Given the description of an element on the screen output the (x, y) to click on. 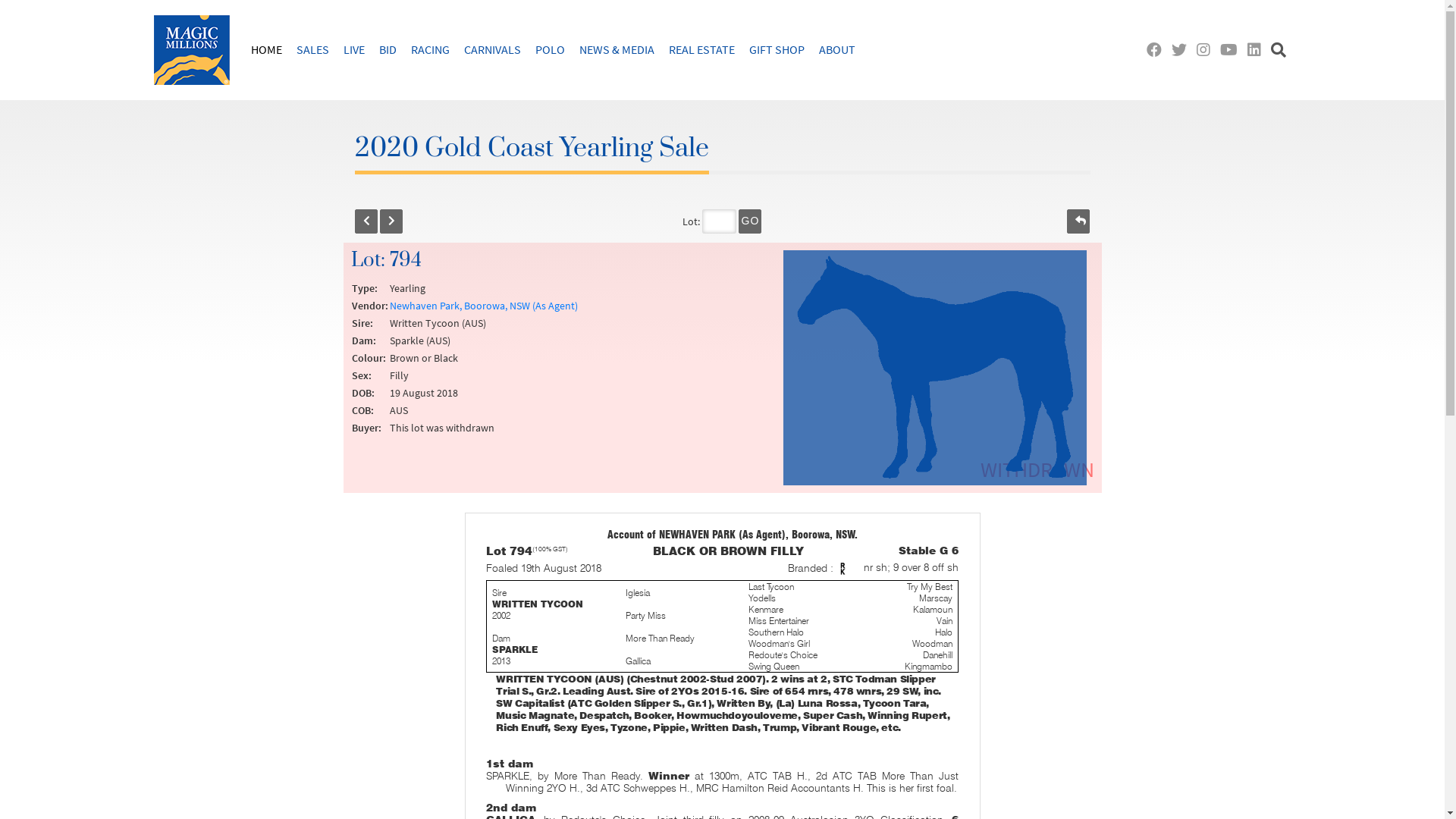
GIFT SHOP Element type: text (776, 49)
REAL ESTATE Element type: text (701, 49)
  Element type: text (390, 221)
Instagram Element type: hover (1206, 49)
  Element type: text (1256, 49)
BID Element type: text (387, 49)
Search Element type: hover (1280, 49)
  Element type: text (1280, 49)
LinkedIn Element type: hover (1256, 49)
ABOUT Element type: text (836, 49)
RACING Element type: text (429, 49)
Newhaven Park, Boorowa, NSW (As Agent) Element type: text (483, 305)
SALES Element type: text (311, 49)
Forward Element type: hover (390, 221)
Facebook Element type: hover (1157, 49)
Back Element type: hover (365, 221)
  Element type: text (1231, 49)
  Element type: text (365, 221)
Return to Listing Element type: hover (1077, 221)
  Element type: text (1077, 221)
Twitter Element type: hover (1181, 49)
NEWS & MEDIA Element type: text (616, 49)
  Element type: text (1181, 49)
POLO Element type: text (550, 49)
GO Element type: text (749, 221)
  Element type: text (1157, 49)
LIVE Element type: text (353, 49)
HOME Element type: text (265, 49)
CARNIVALS Element type: text (492, 49)
Magic Millions Element type: hover (191, 49)
YouTube Element type: hover (1231, 49)
  Element type: text (1206, 49)
